Given the description of an element on the screen output the (x, y) to click on. 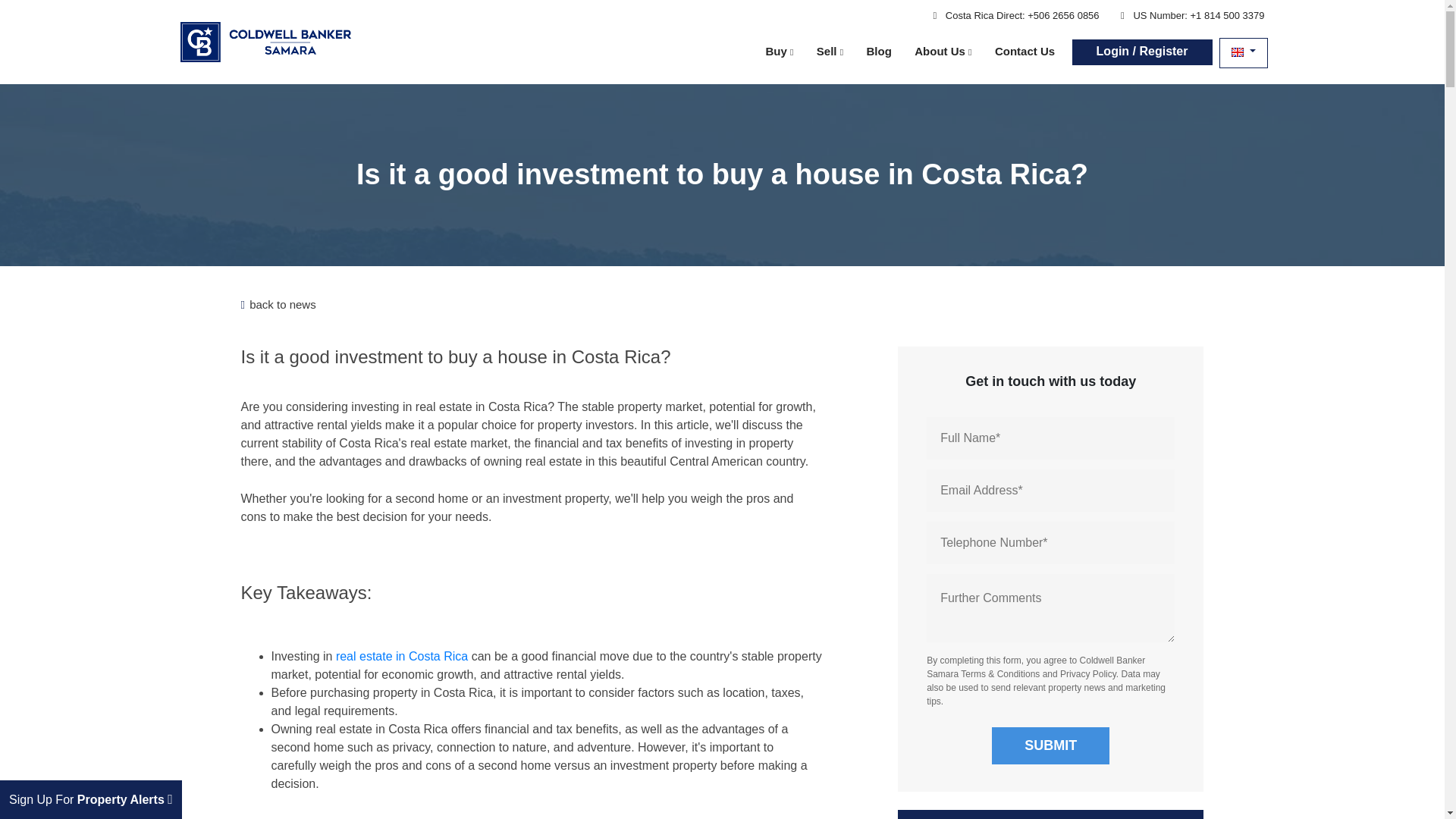
Blog (878, 50)
Coldwell Banker Samara (265, 41)
Buy (778, 51)
Sell (829, 51)
About Us (942, 51)
Contact Us (1024, 50)
